Given the description of an element on the screen output the (x, y) to click on. 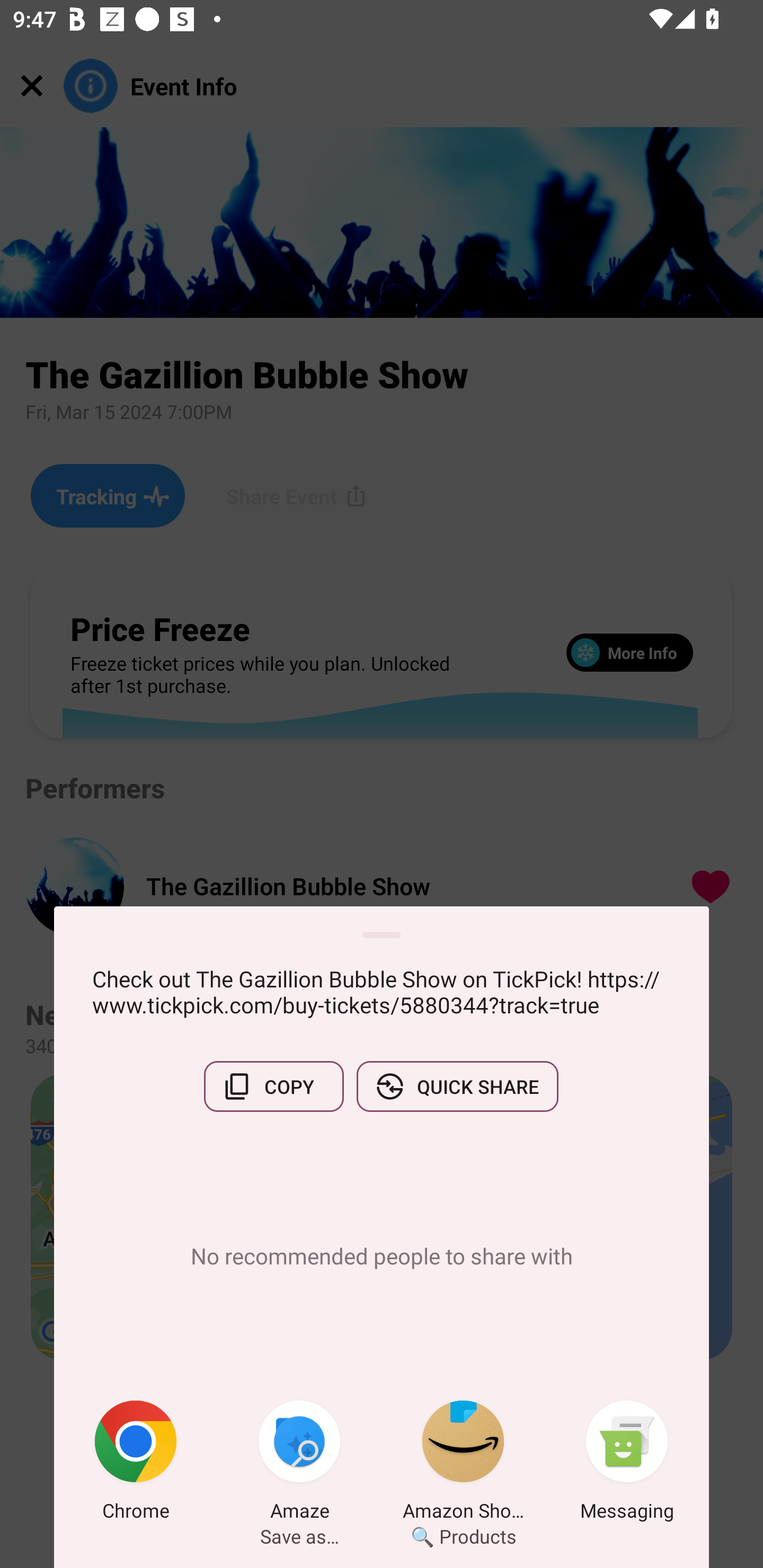
COPY (273, 1086)
QUICK SHARE (457, 1086)
Chrome (135, 1463)
Amaze Save as… (299, 1463)
Amazon Shopping 🔍 Products (463, 1463)
Messaging (626, 1463)
